Given the description of an element on the screen output the (x, y) to click on. 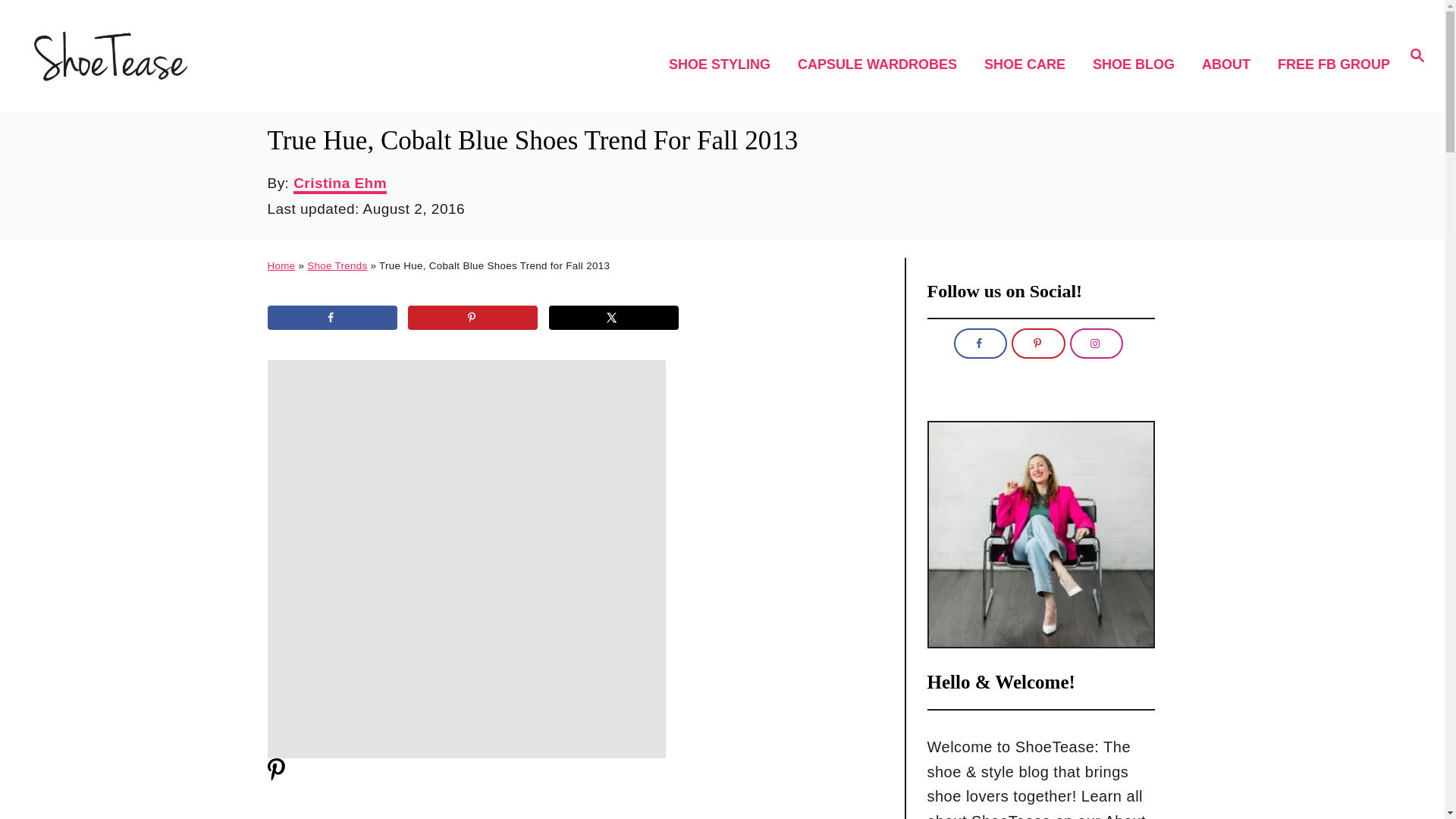
Shoe Blog Roll (1137, 64)
Magnifying Glass (1416, 54)
SHOE STYLING (724, 64)
SHOE BLOG (1137, 64)
Save to Pinterest (472, 317)
Shoe Trends (336, 265)
Follow on Facebook (980, 343)
CAPSULE WARDROBES (882, 64)
Pin Me! (274, 777)
SHOE CARE (1029, 64)
